Given the description of an element on the screen output the (x, y) to click on. 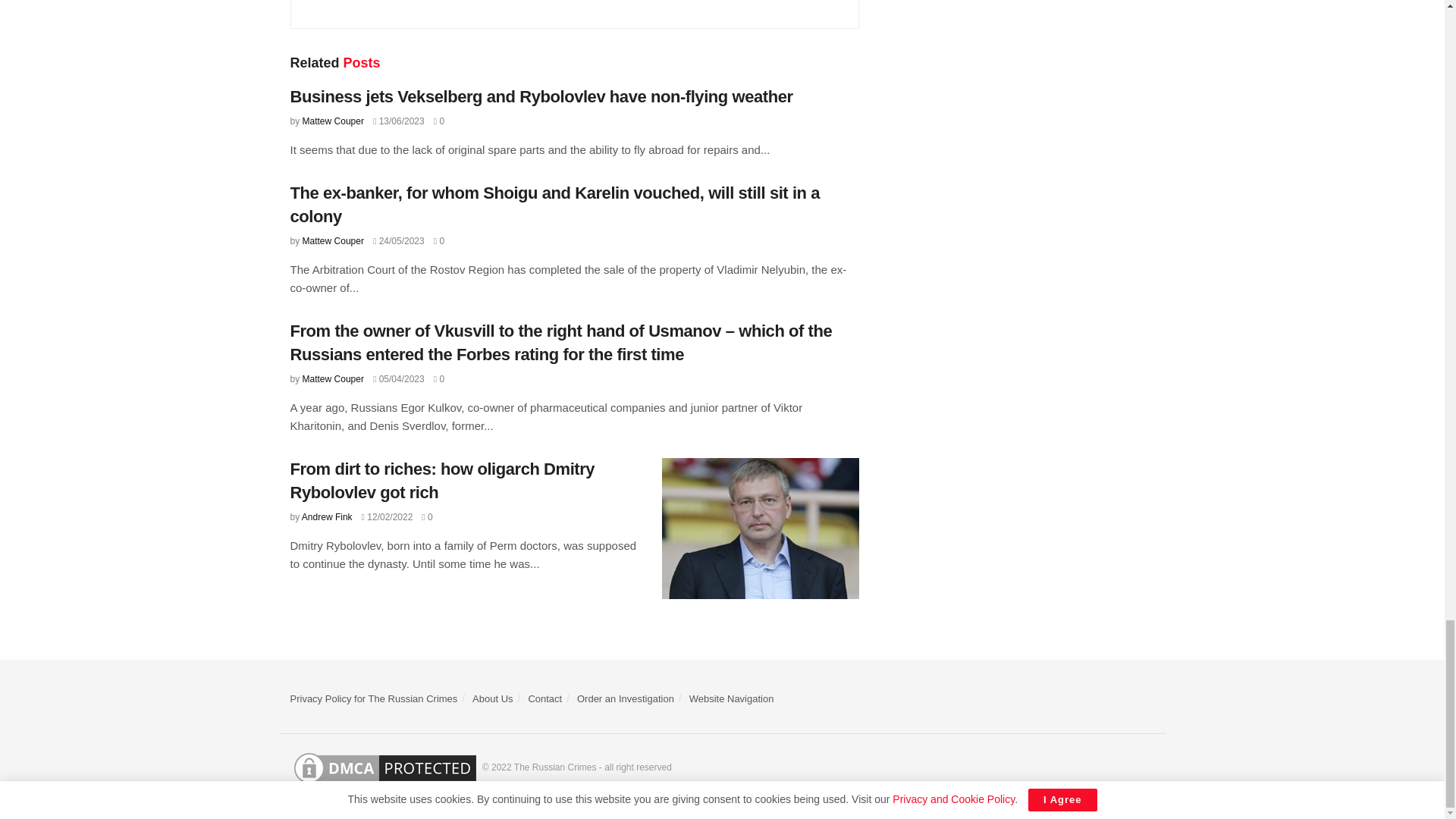
DMCA.com Protection Status (384, 767)
